Given the description of an element on the screen output the (x, y) to click on. 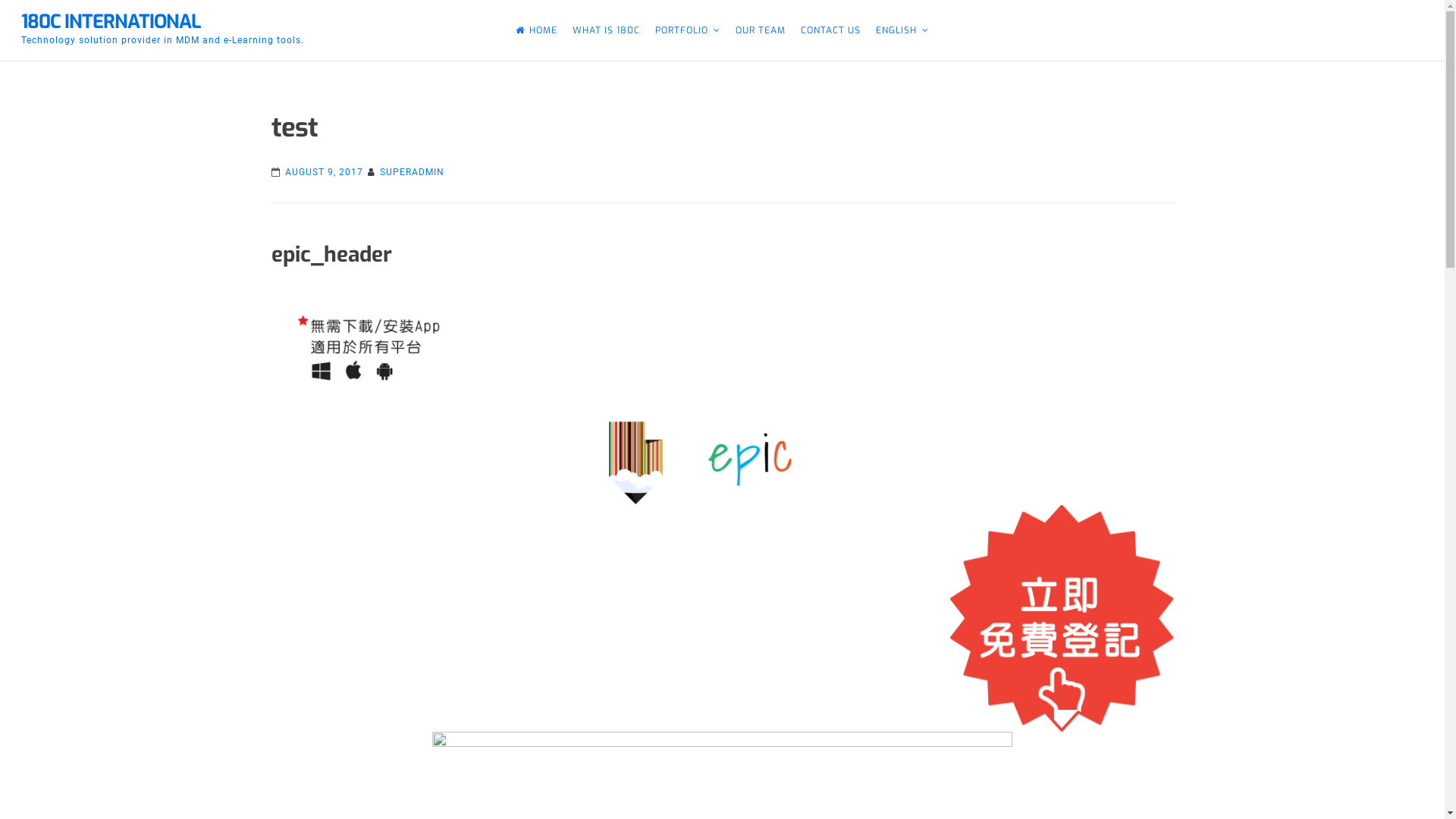
OUR TEAM Element type: text (760, 30)
PORTFOLIO Element type: text (687, 30)
180C INTERNATIONAL Element type: text (110, 21)
AUGUST 9, 2017 Element type: text (324, 171)
Skip to content Element type: text (0, 0)
ENGLISH Element type: text (902, 30)
CONTACT US Element type: text (830, 30)
WHAT IS 180C Element type: text (606, 30)
HOME Element type: text (536, 30)
SUPERADMIN Element type: text (411, 171)
